Given the description of an element on the screen output the (x, y) to click on. 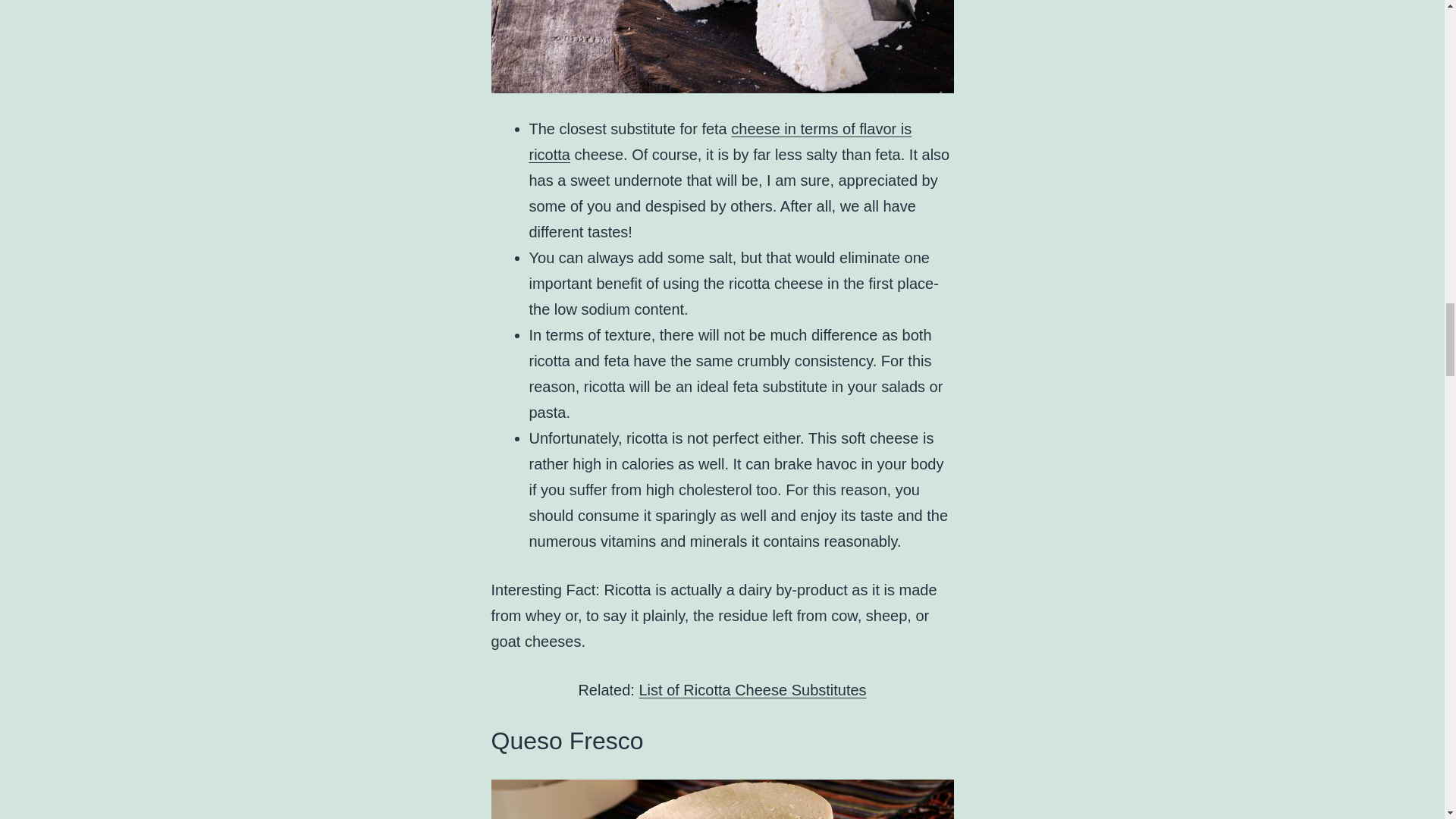
Feta-Cheese-Substitute-Options-Ricotta (722, 46)
cheese in terms of flavor is ricotta (720, 141)
List of Ricotta Cheese Substitutes (752, 689)
Feta-Cheese-Substitute-Options-Queso-Fresco (722, 799)
